Given the description of an element on the screen output the (x, y) to click on. 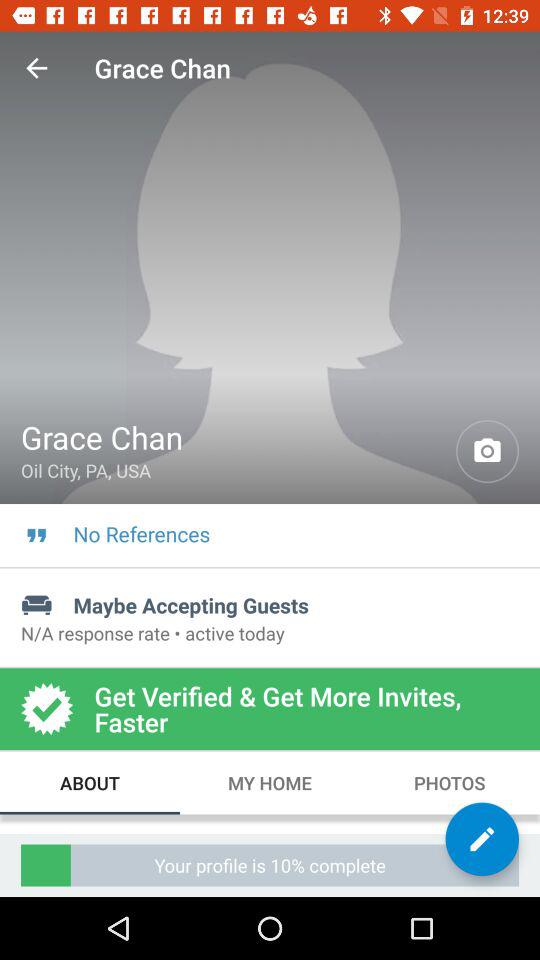
jump to the your profile is item (270, 864)
